Given the description of an element on the screen output the (x, y) to click on. 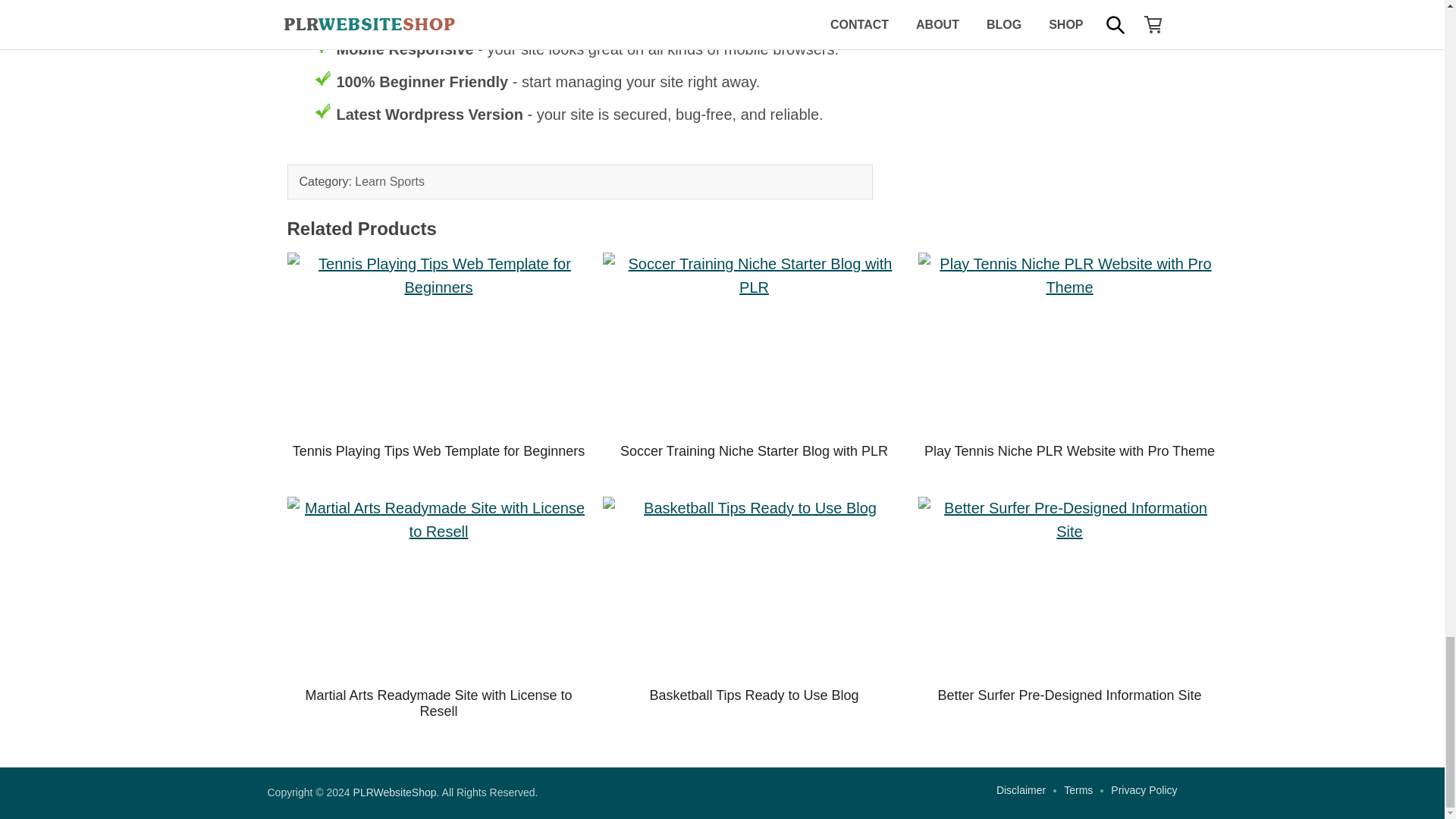
Tennis Playing Tips Web Template for Beginners (437, 343)
Basketball Tips Ready to Use Blog (753, 587)
Learn Sports (390, 181)
Martial Arts Readymade Site with License to Resell (438, 703)
Better Surfer Pre-Designed Information Site (1069, 587)
Play Tennis Niche PLR Website with Pro Theme (1069, 450)
Tennis Playing Tips Web Template for Beginners (438, 450)
Play Tennis Niche PLR Website with Pro Theme (1069, 343)
Soccer Training Niche Starter Blog with PLR (754, 450)
Soccer Training Niche Starter Blog with PLR (753, 343)
Martial Arts Readymade Site with License to Resell (437, 587)
